Given the description of an element on the screen output the (x, y) to click on. 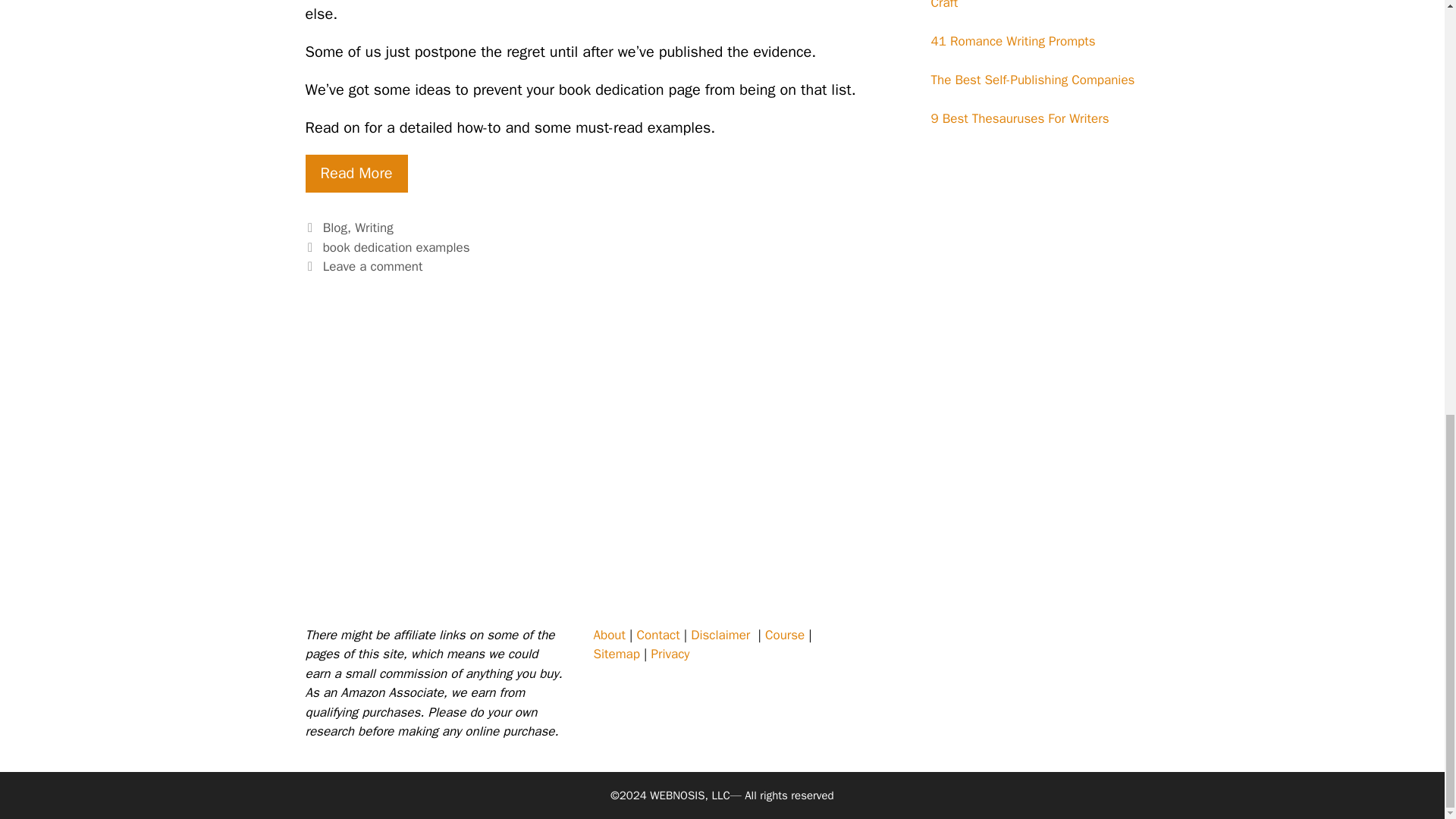
About (608, 634)
Privacy (670, 653)
Read More (355, 173)
Leave a comment (373, 266)
Blog (335, 227)
The Best Self-Publishing Companies (1033, 79)
WEBNOSIS, LLC (689, 795)
9 Best Thesauruses For Writers (1020, 118)
Writing (374, 227)
Contact (658, 634)
